Given the description of an element on the screen output the (x, y) to click on. 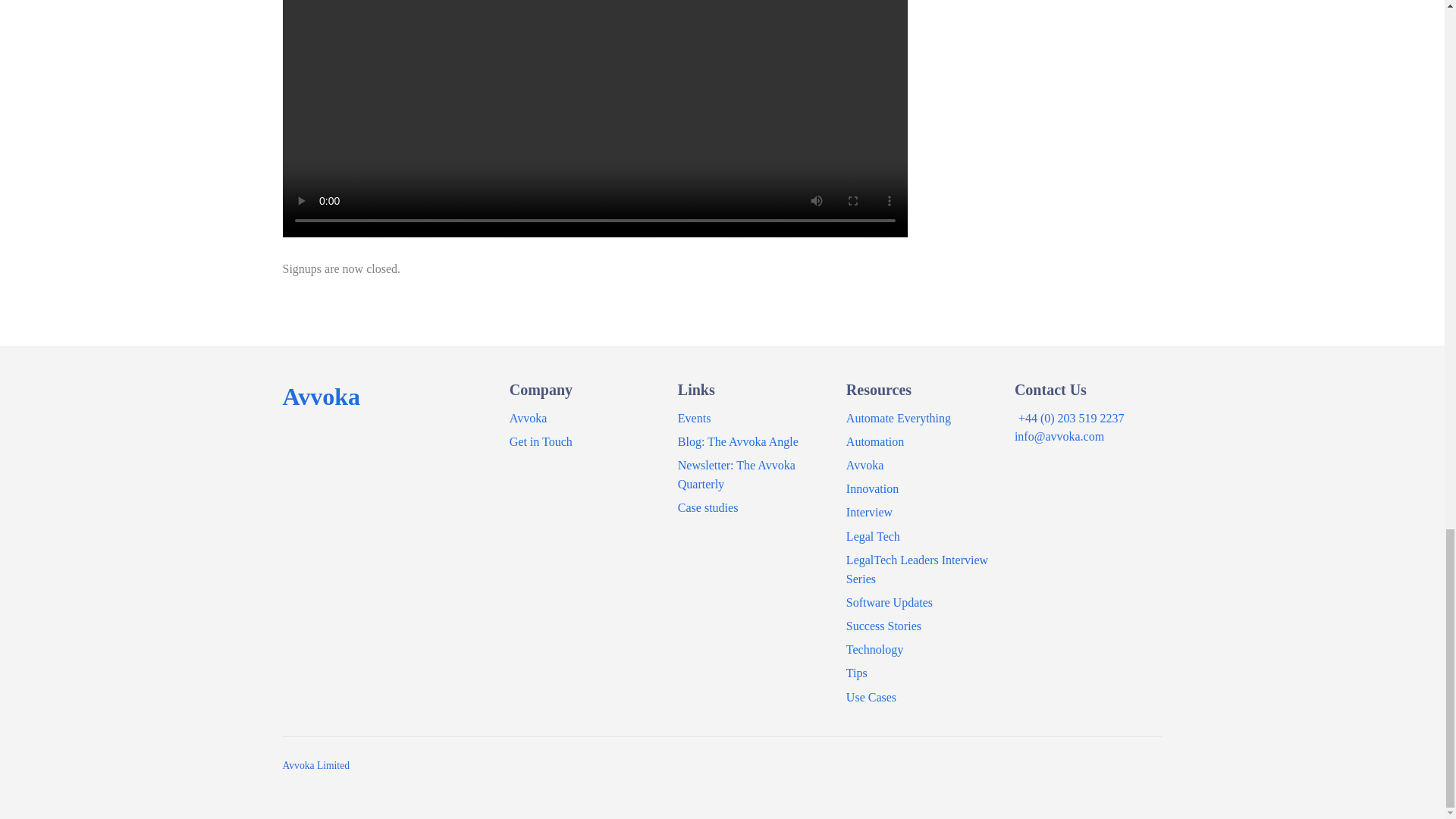
LegalTech Leaders Interview Series (916, 569)
Get in Touch (540, 440)
Automation (874, 440)
Innovation (871, 488)
Technology (873, 649)
Events (694, 418)
Avvoka (320, 396)
Interview (868, 512)
Newsletter: The Avvoka Quarterly (736, 474)
Avvoka (528, 418)
Blog: The Avvoka Angle (737, 440)
Automate Everything (897, 418)
Avvoka (320, 396)
Avvoka (864, 464)
Success Stories (883, 625)
